Given the description of an element on the screen output the (x, y) to click on. 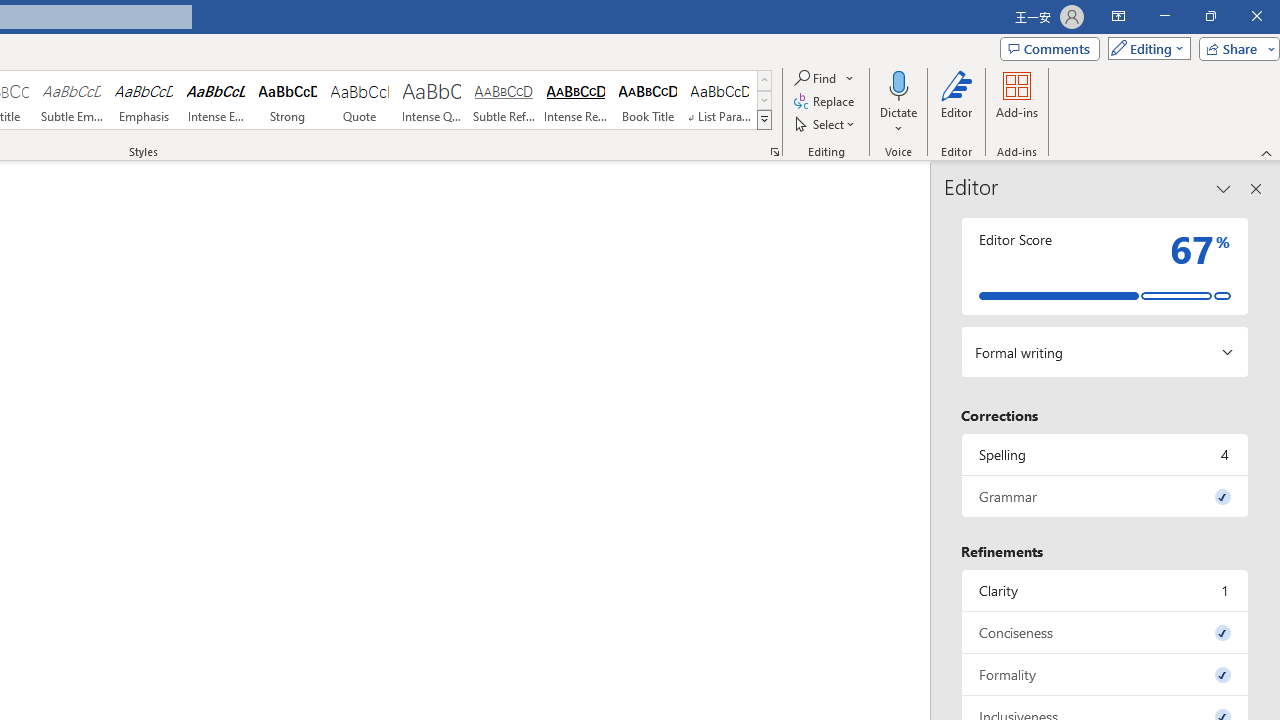
Grammar, 0 issues. Press space or enter to review items. (1105, 495)
Styles (763, 120)
Replace... (826, 101)
Emphasis (143, 100)
Subtle Reference (504, 100)
Row up (763, 79)
Select (826, 124)
Styles... (774, 151)
